Given the description of an element on the screen output the (x, y) to click on. 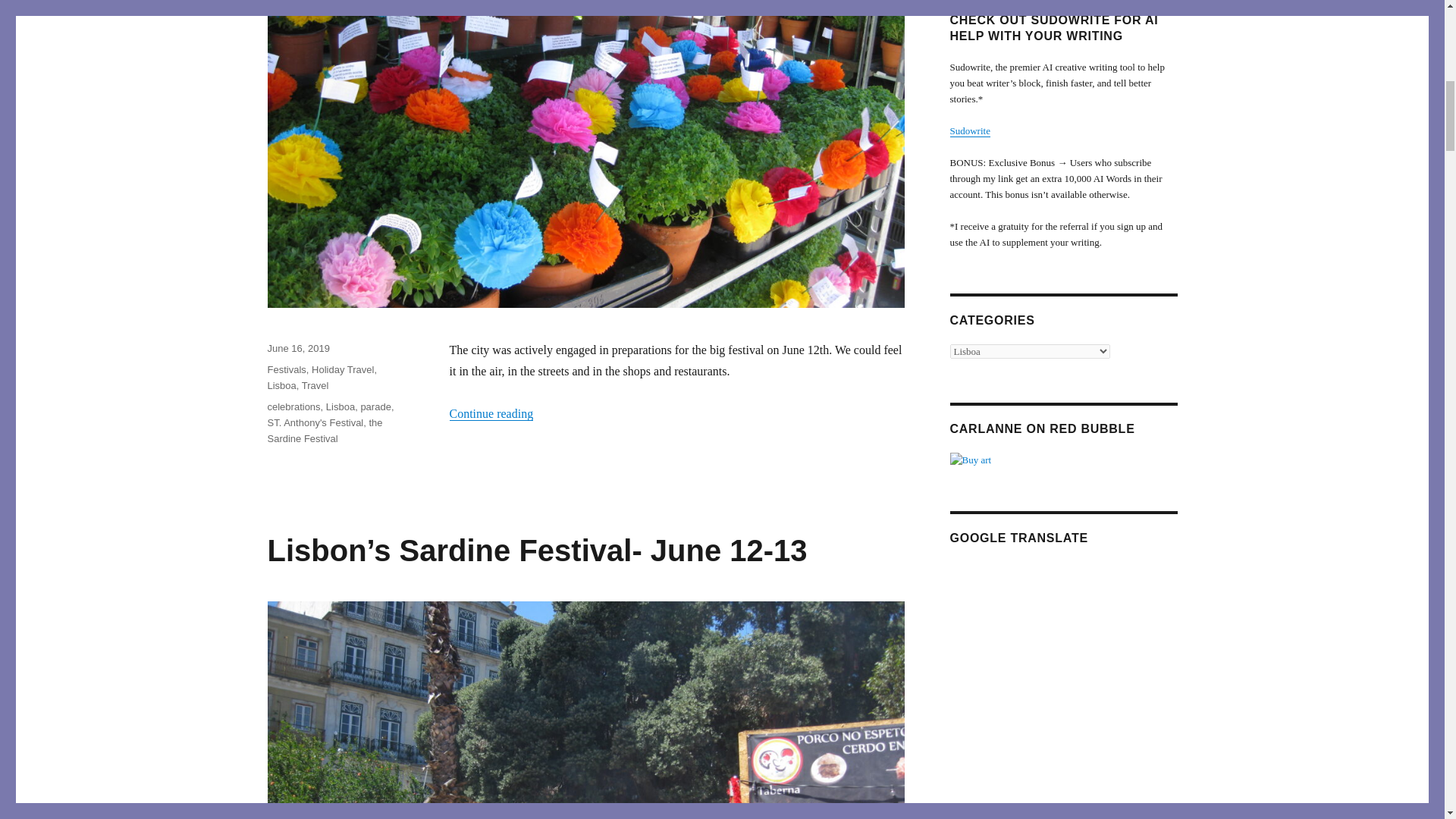
See my profile on RedBubble (1062, 460)
